Given the description of an element on the screen output the (x, y) to click on. 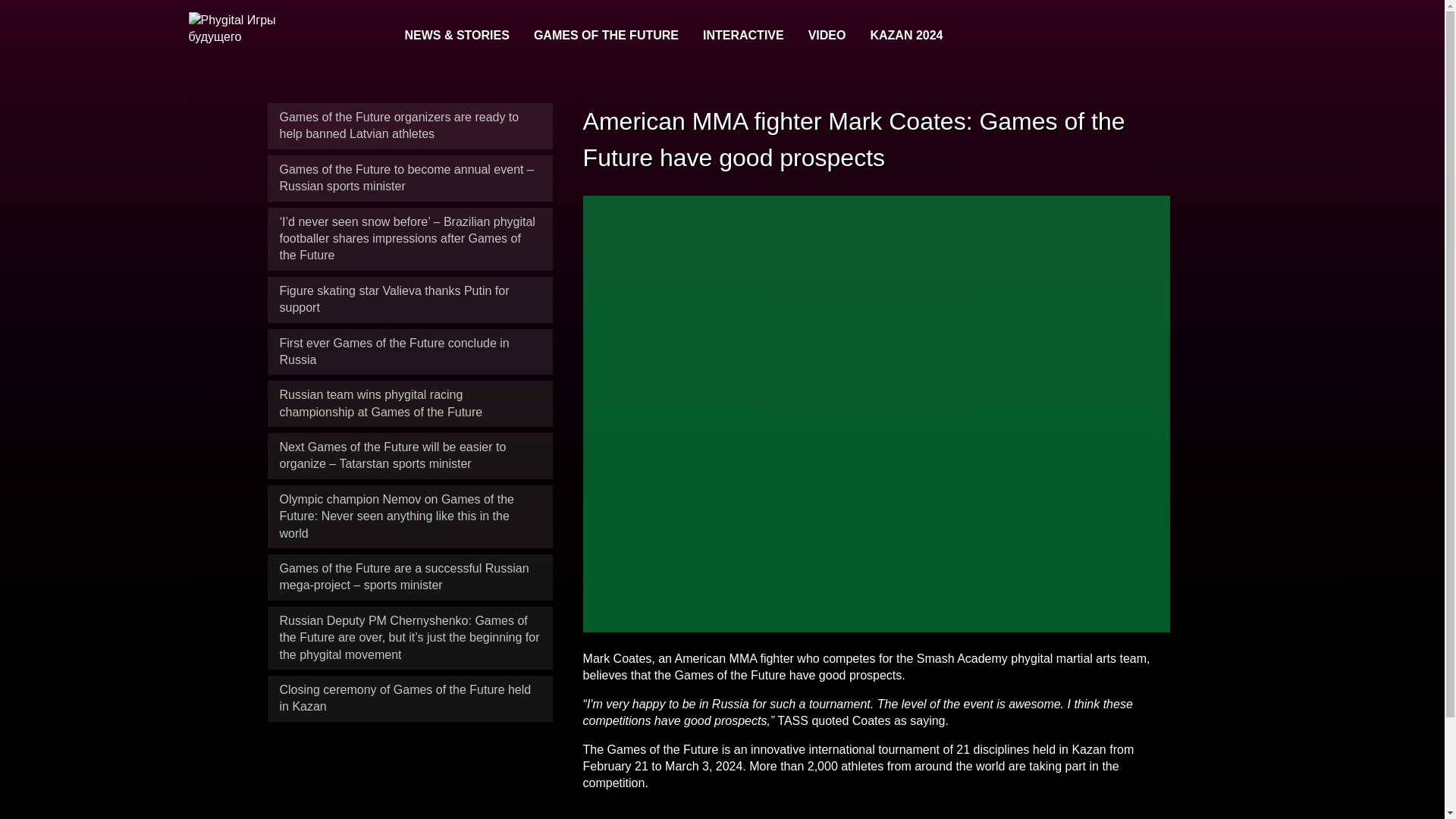
INTERACTIVE (743, 36)
Closing ceremony of Games of the Future held in Kazan (405, 697)
First ever Games of the Future conclude in Russia (1243, 36)
GAMES OF THE FUTURE (393, 351)
Figure skating star Valieva thanks Putin for support (606, 36)
VIDEO (393, 298)
